Given the description of an element on the screen output the (x, y) to click on. 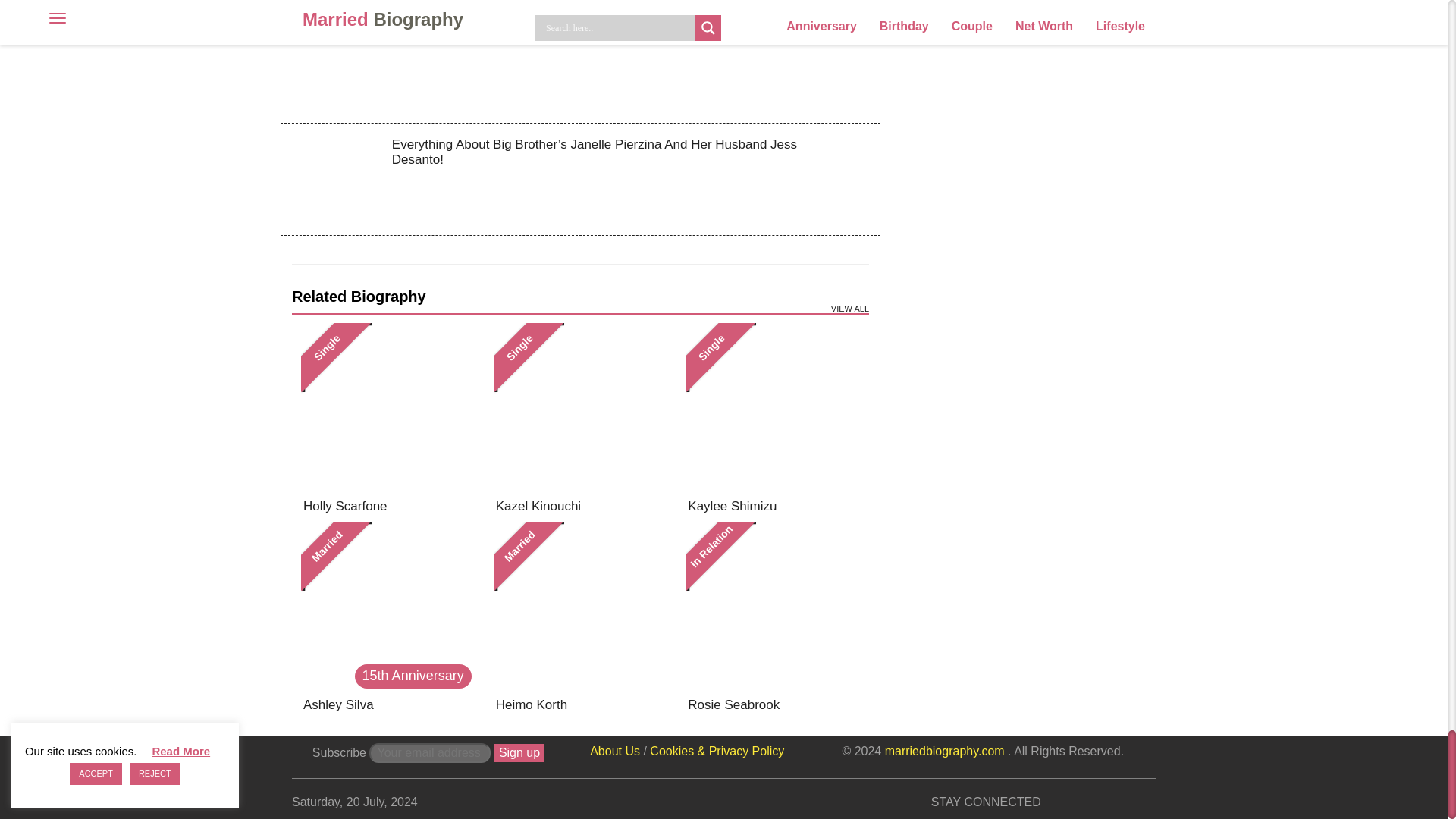
Sign up (519, 752)
